Given the description of an element on the screen output the (x, y) to click on. 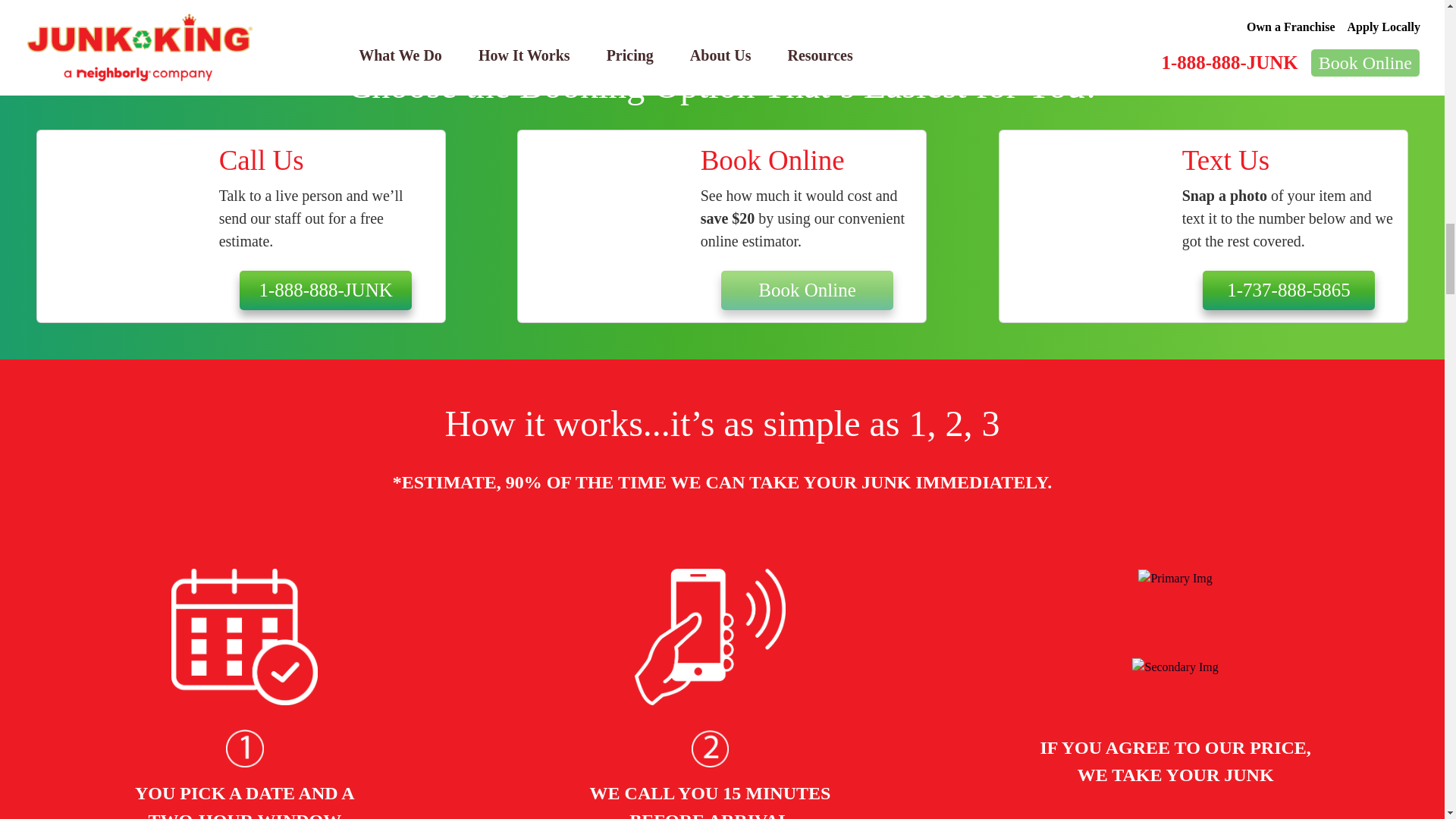
Secondary Img (244, 748)
Secondary Img (710, 748)
Primary Img (244, 636)
Primary Img (710, 636)
Primary Img (1174, 578)
